Given the description of an element on the screen output the (x, y) to click on. 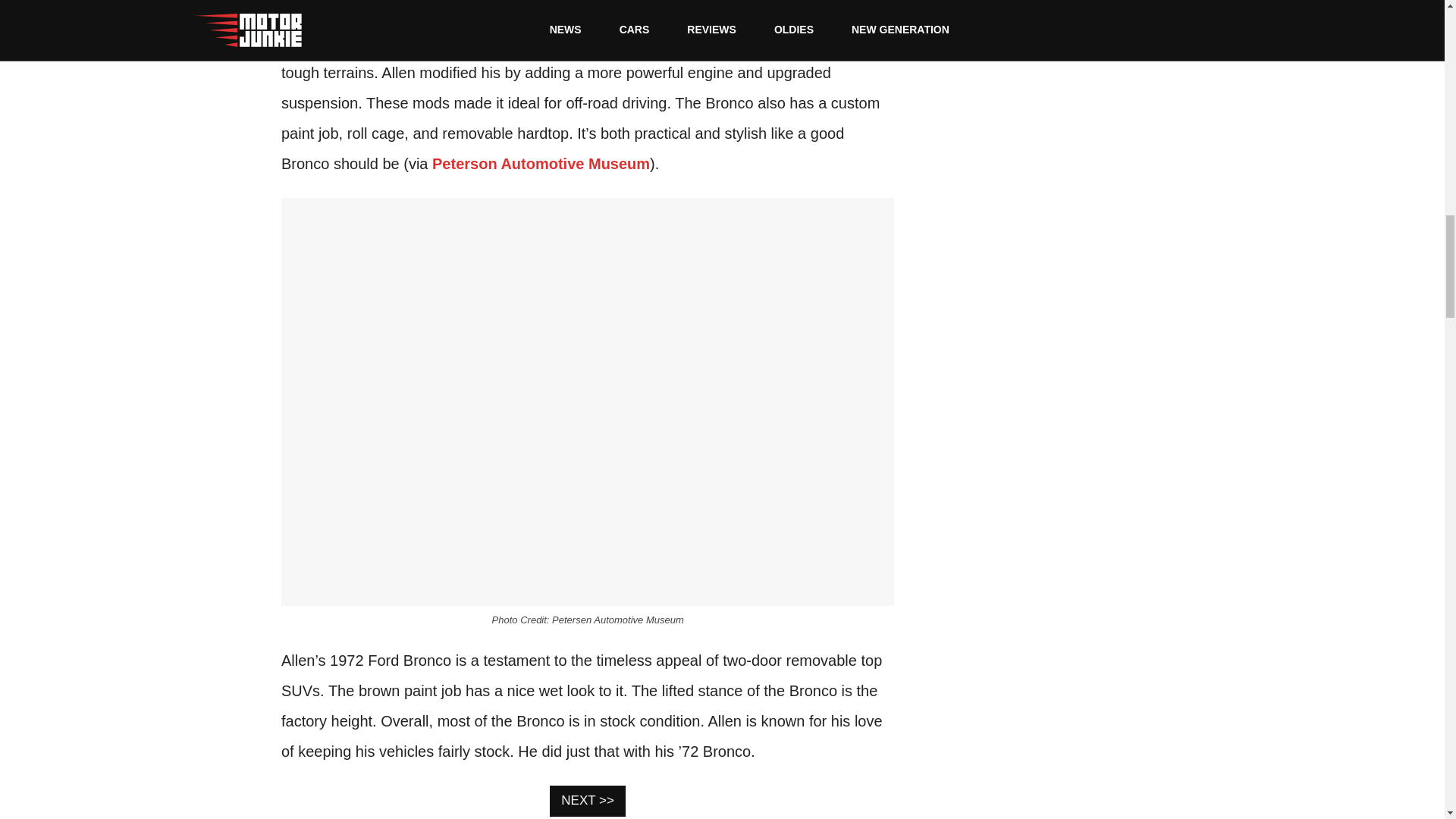
Peterson Automotive Museum (540, 163)
